Given the description of an element on the screen output the (x, y) to click on. 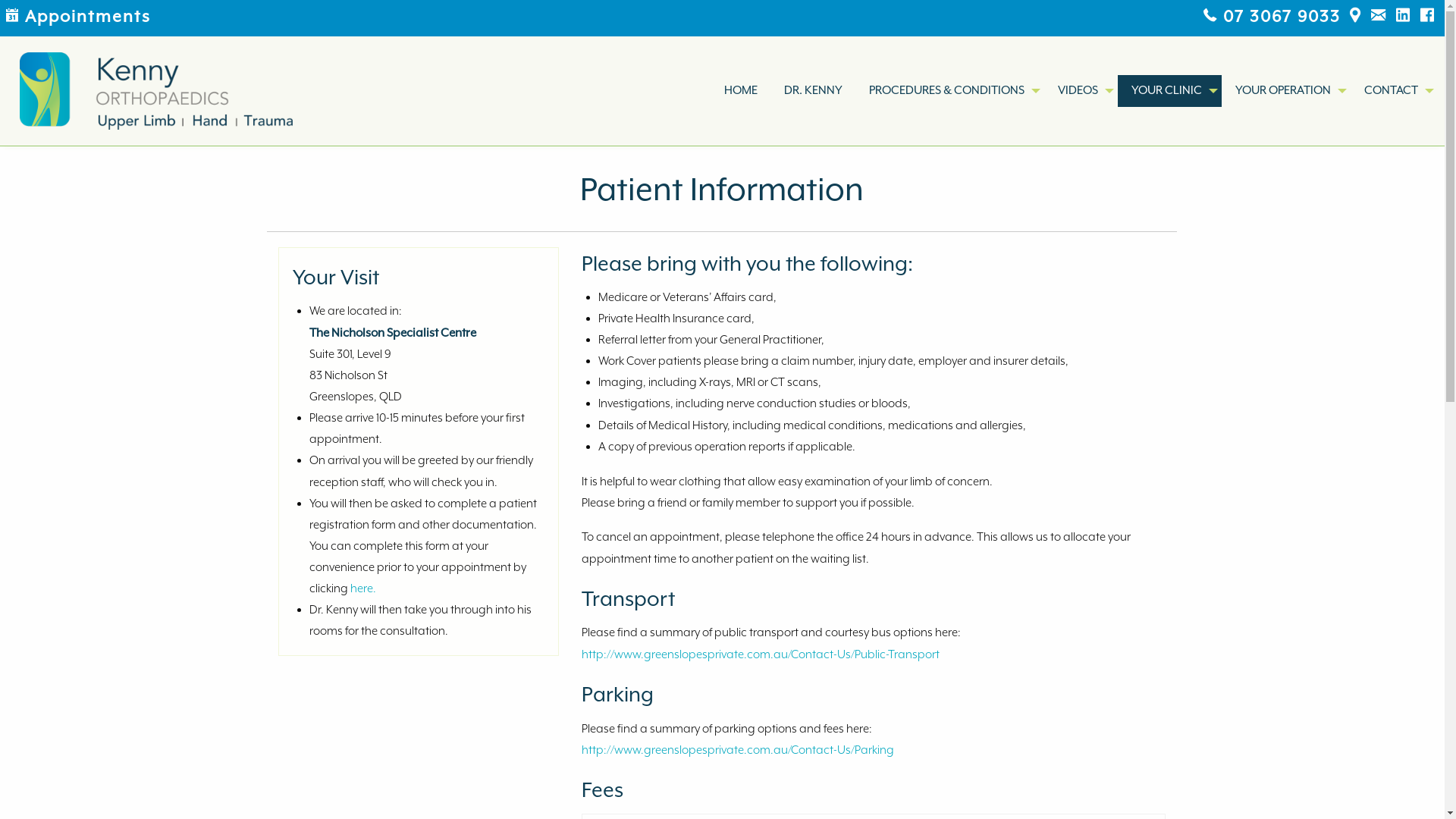
CONTACT Element type: text (1393, 90)
DR. KENNY Element type: text (812, 90)
YOUR CLINIC Element type: text (1169, 90)
PROCEDURES & CONDITIONS Element type: text (949, 90)
YOUR OPERATION Element type: text (1285, 90)
07 3067 9033 Element type: text (1276, 16)
HOME Element type: text (740, 90)
Appointments Element type: text (83, 16)
VIDEOS Element type: text (1080, 90)
http://www.greenslopesprivate.com.au/Contact-Us/Parking Element type: text (737, 749)
here. Element type: text (363, 588)
